Given the description of an element on the screen output the (x, y) to click on. 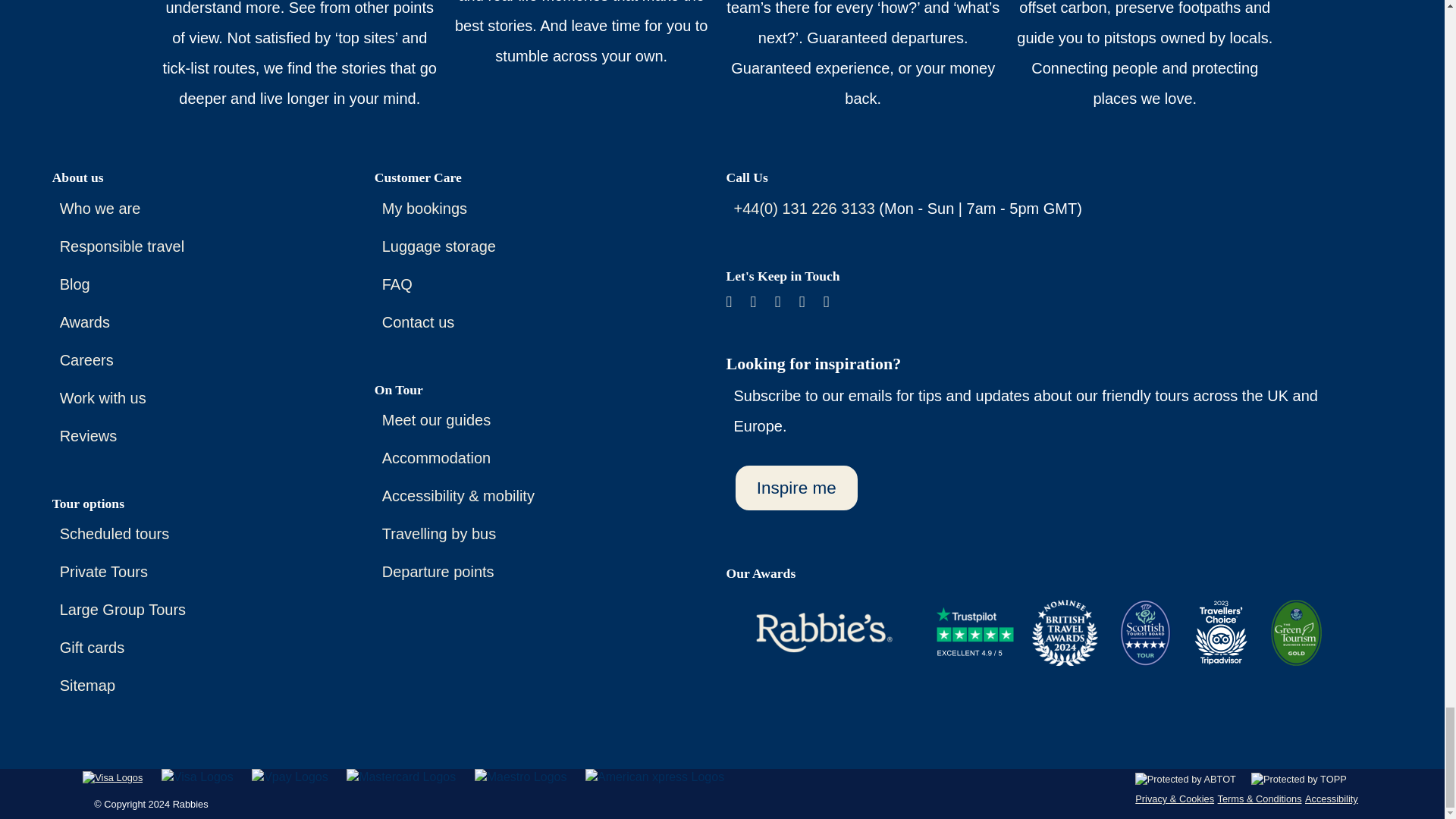
Private Tours (103, 571)
Sitemap (87, 685)
My bookings (424, 208)
Accommodation (435, 457)
Reviews (88, 435)
Scheduled tours (114, 533)
FAQ (396, 284)
Gift cards (92, 647)
Who we are (100, 208)
Awards (84, 321)
